Given the description of an element on the screen output the (x, y) to click on. 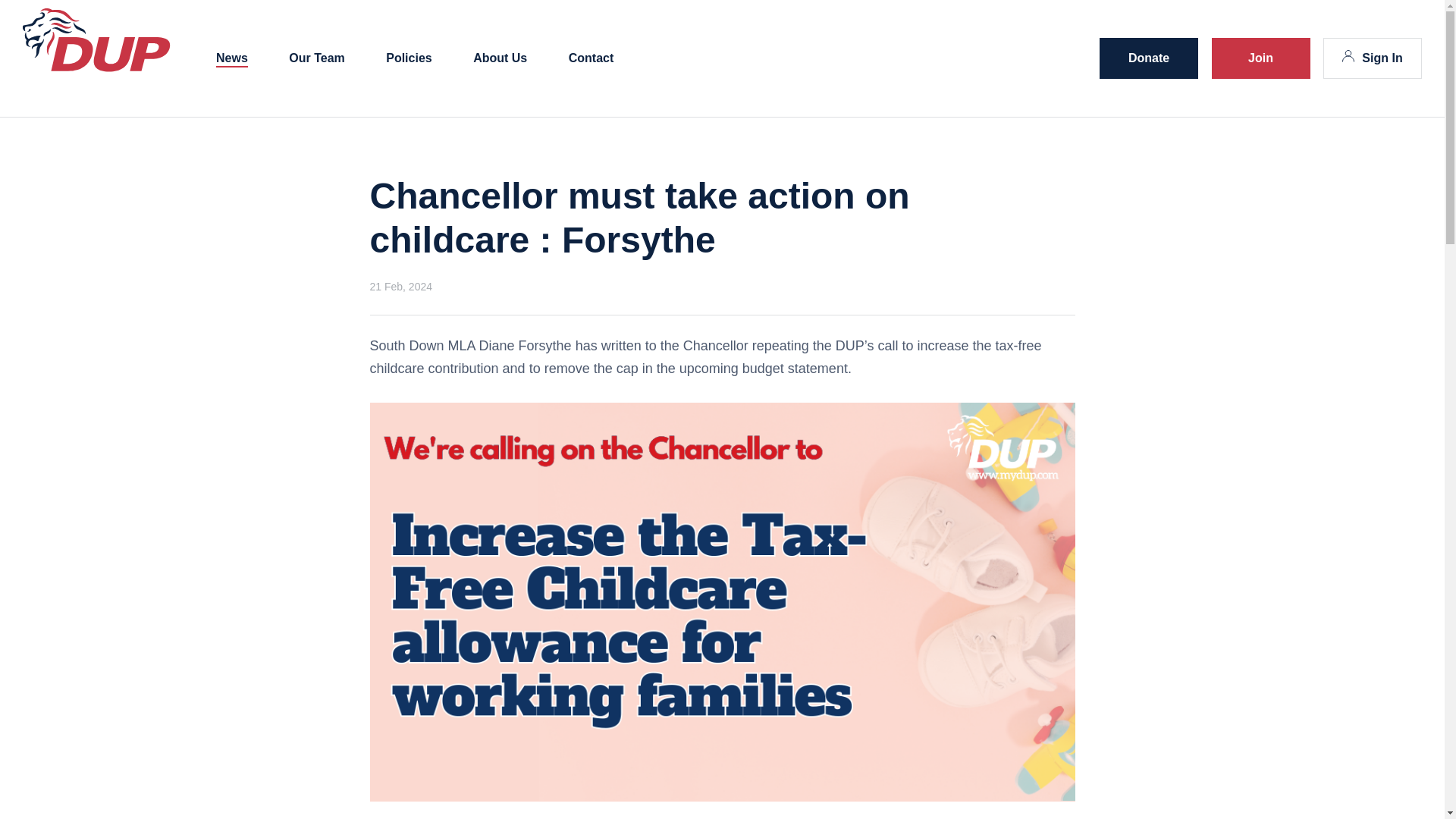
Donate (1148, 57)
Our Team (316, 59)
Join (1260, 57)
News (231, 59)
About Us (500, 59)
Branding (96, 40)
Branding (96, 67)
Policies (407, 59)
Icon Sign In (1372, 57)
Return to Homepage (96, 67)
Icon (1348, 55)
Contact (591, 59)
